Given the description of an element on the screen output the (x, y) to click on. 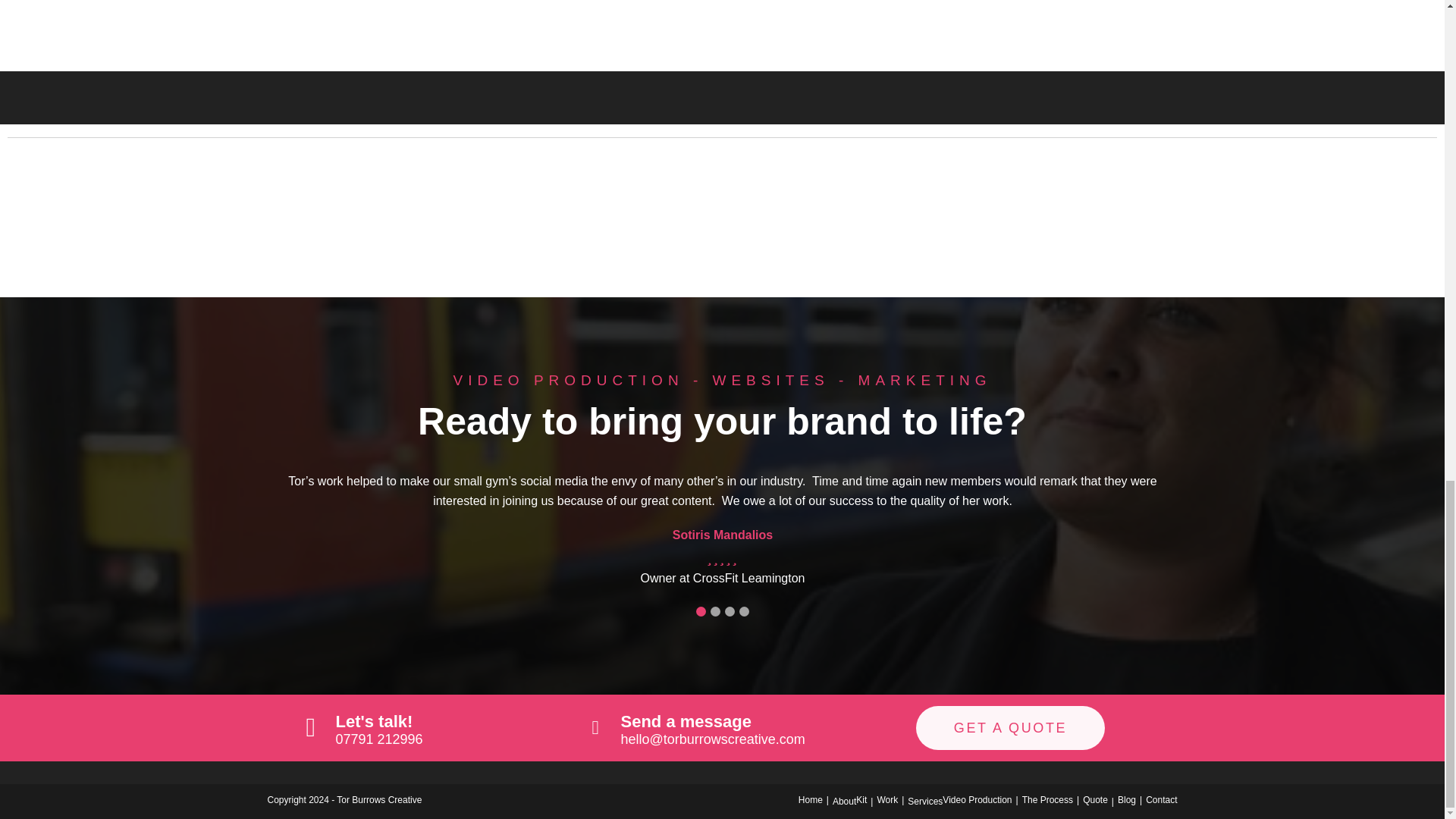
Quote (1095, 799)
Let's talk! (373, 721)
07791 212996 (378, 739)
Blog (1126, 799)
Video Production (976, 799)
Kit (861, 799)
GET A QUOTE (1010, 727)
Send a message (685, 721)
Work (887, 799)
Home (809, 799)
